Given the description of an element on the screen output the (x, y) to click on. 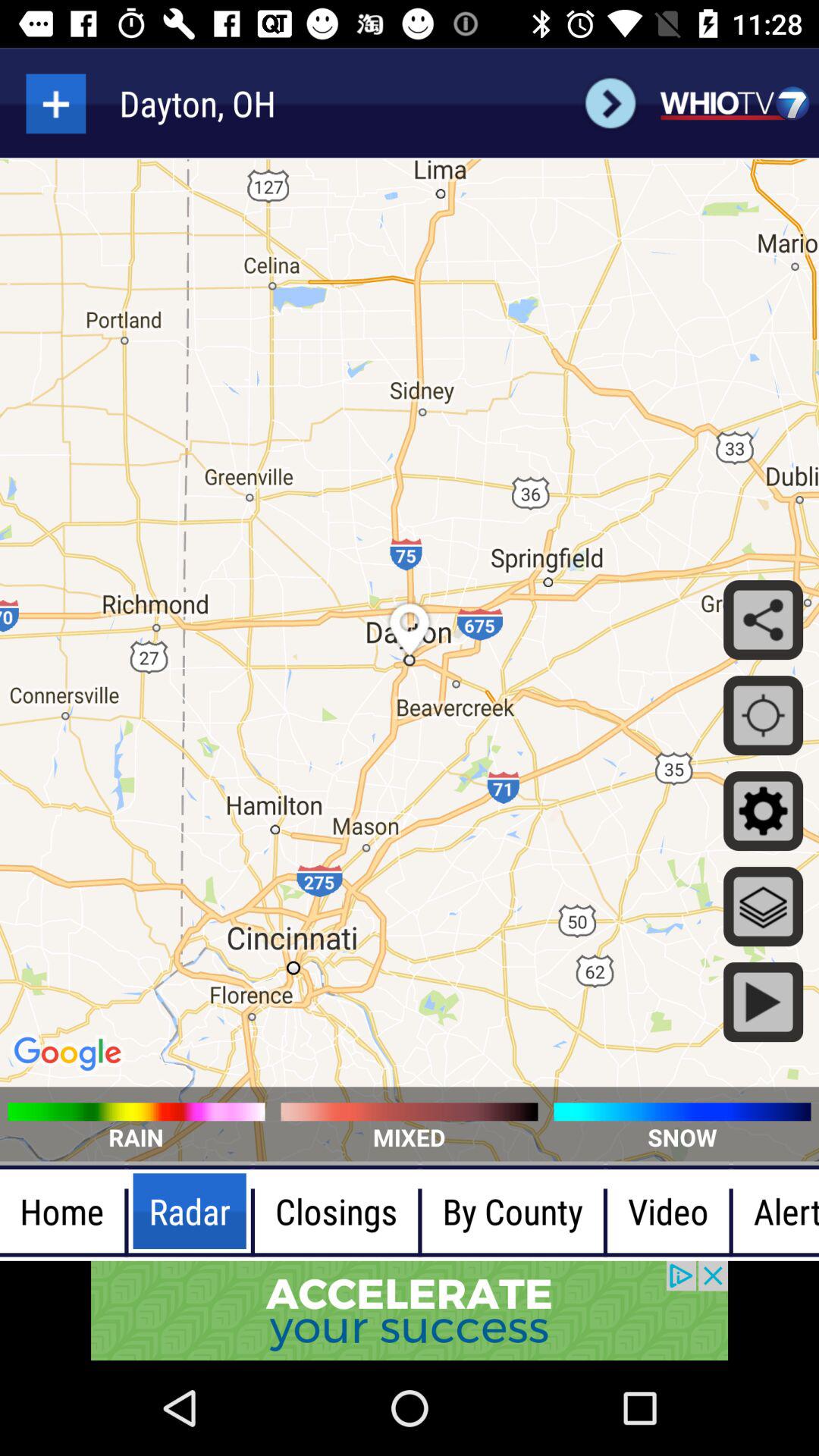
forward (610, 103)
